Given the description of an element on the screen output the (x, y) to click on. 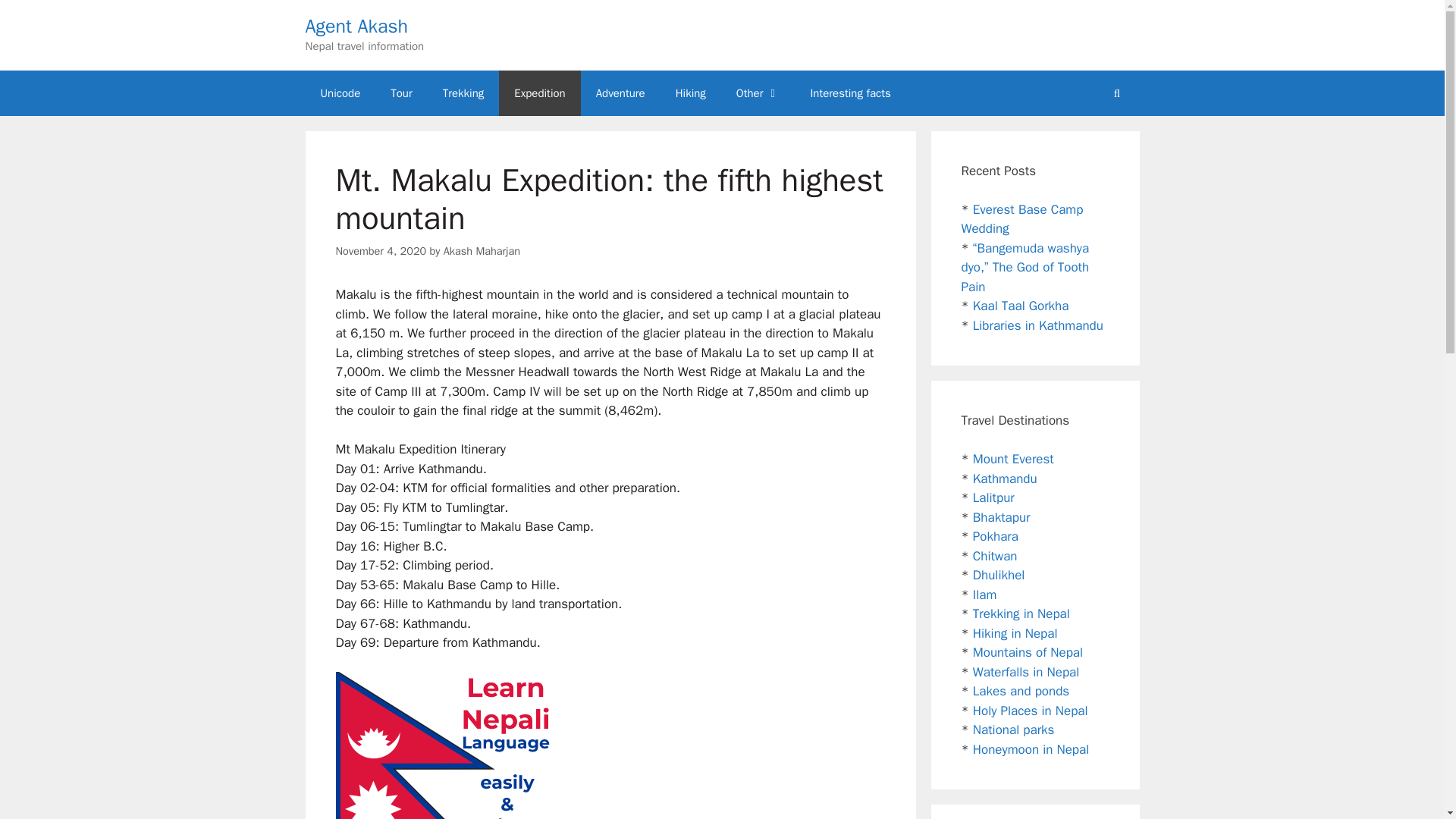
Kaal Taal Gorkha (1020, 305)
Dhulikhel (998, 575)
Unicode (339, 92)
Adventure (620, 92)
Trekking (463, 92)
Chitwan (994, 555)
Everest Base Camp Wedding (1021, 219)
Hiking (690, 92)
Interesting facts (849, 92)
Other (757, 92)
